Given the description of an element on the screen output the (x, y) to click on. 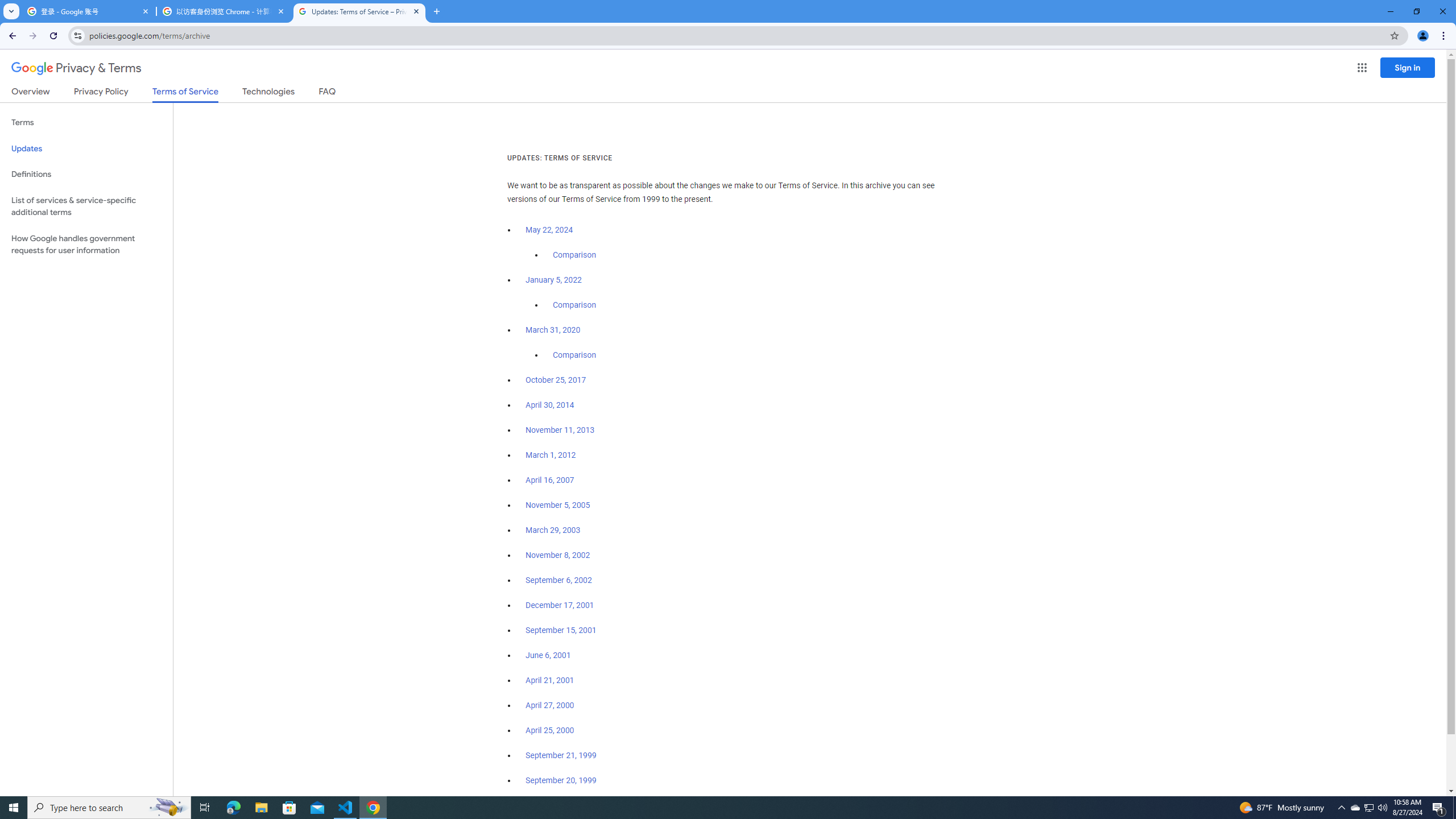
June 6, 2001 (547, 655)
September 21, 1999 (560, 755)
List of services & service-specific additional terms (86, 206)
April 30, 2014 (550, 405)
